Given the description of an element on the screen output the (x, y) to click on. 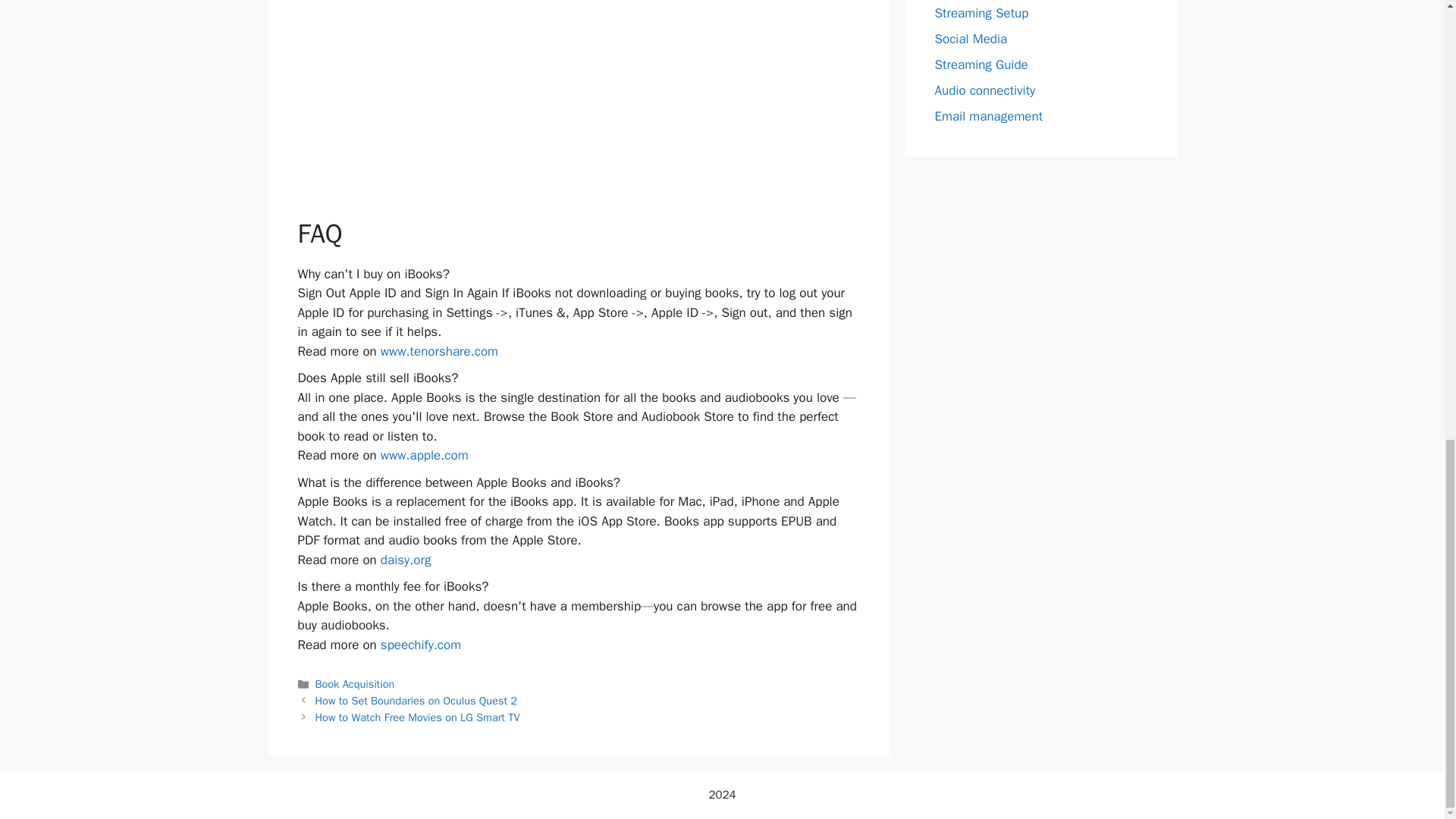
Streaming Setup (980, 12)
www.apple.com (424, 455)
www.tenorshare.com (438, 351)
Social Media (970, 38)
daisy.org (405, 560)
Audio connectivity (984, 90)
Email management (988, 116)
Book Acquisition (354, 684)
speechify.com (420, 644)
Streaming Guide (980, 64)
